Given the description of an element on the screen output the (x, y) to click on. 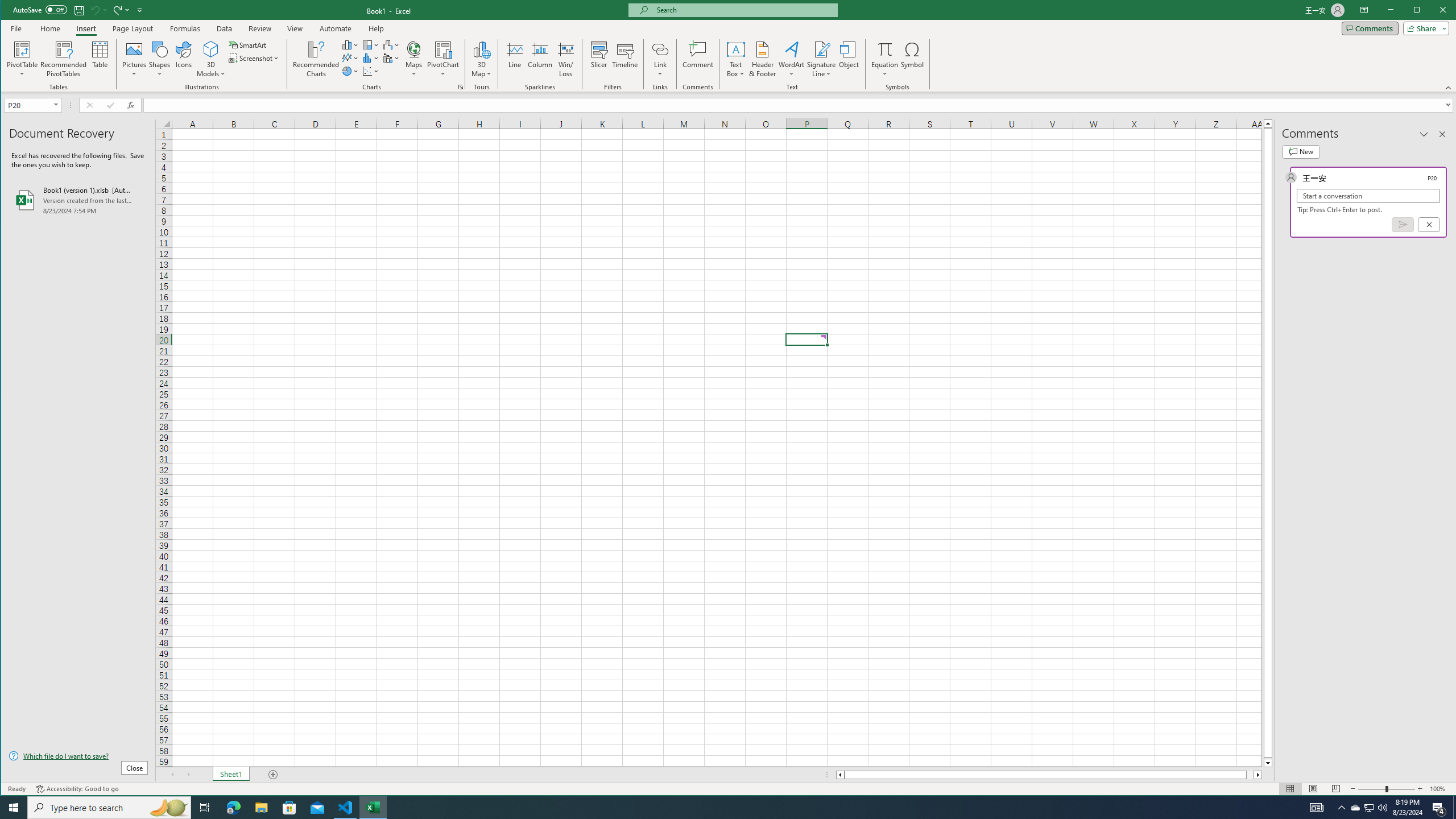
Insert (85, 28)
Shapes (159, 59)
3D Map (481, 59)
Q2790: 100% (1382, 807)
Task View (204, 807)
Customize Quick Access Toolbar (140, 9)
Zoom In (1420, 788)
Page Layout (132, 28)
File Tab (16, 27)
Undo (94, 9)
Open (56, 105)
Zoom Out (1372, 788)
Insert Line or Area Chart (350, 57)
Equation (884, 59)
Signature Line (821, 59)
